Given the description of an element on the screen output the (x, y) to click on. 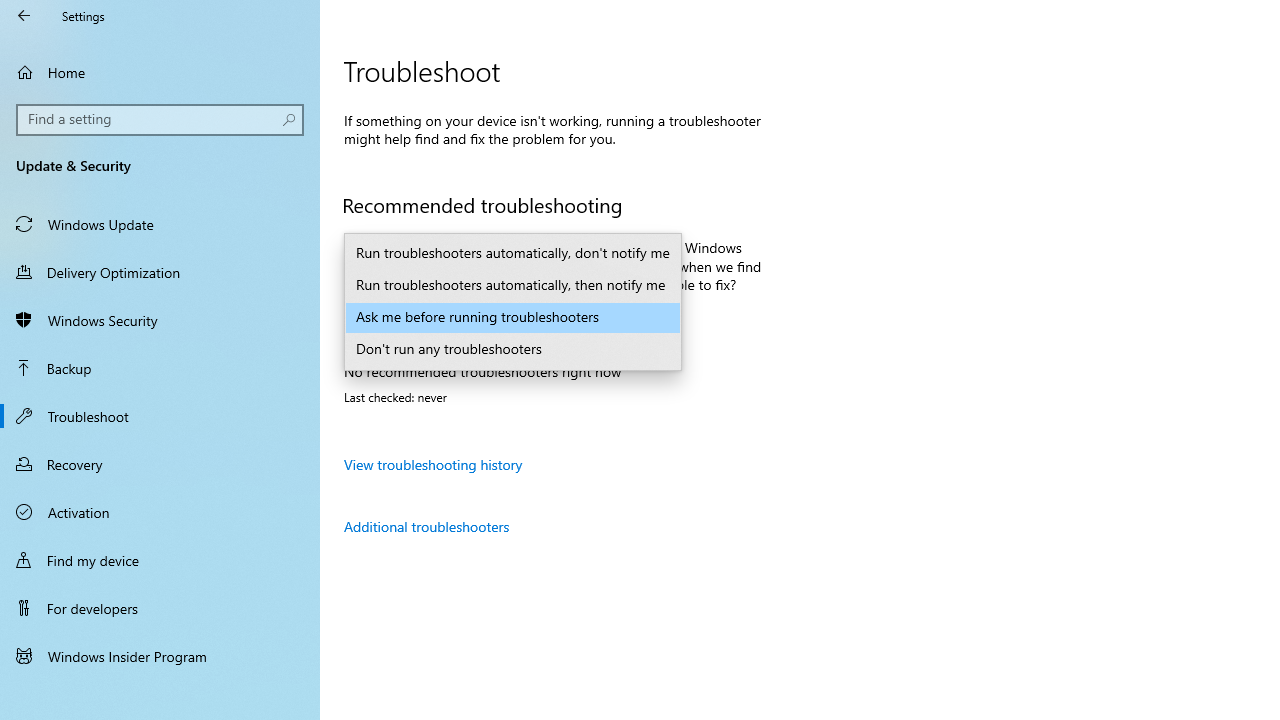
For developers (160, 607)
Run troubleshooters automatically, don't notify me (512, 254)
Activation (160, 511)
Troubleshoot (160, 415)
Recovery (160, 463)
Windows Insider Program (160, 655)
View troubleshooting history (433, 464)
Run troubleshooters automatically, then notify me (512, 285)
Windows Security (160, 319)
Windows Update (160, 223)
Backup (160, 367)
Delivery Optimization (160, 271)
